Given the description of an element on the screen output the (x, y) to click on. 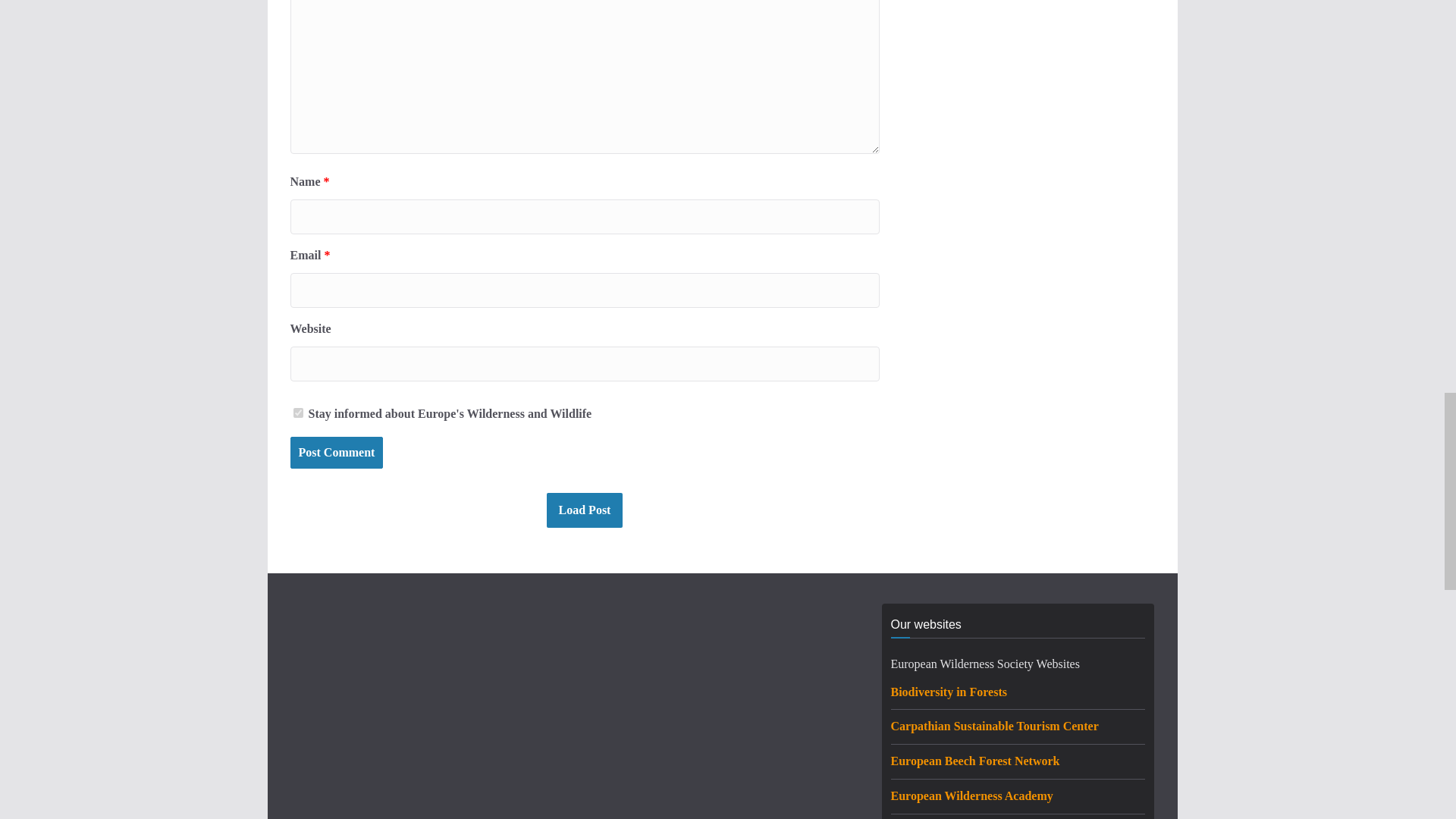
Post Comment (335, 452)
1 (297, 412)
